Given the description of an element on the screen output the (x, y) to click on. 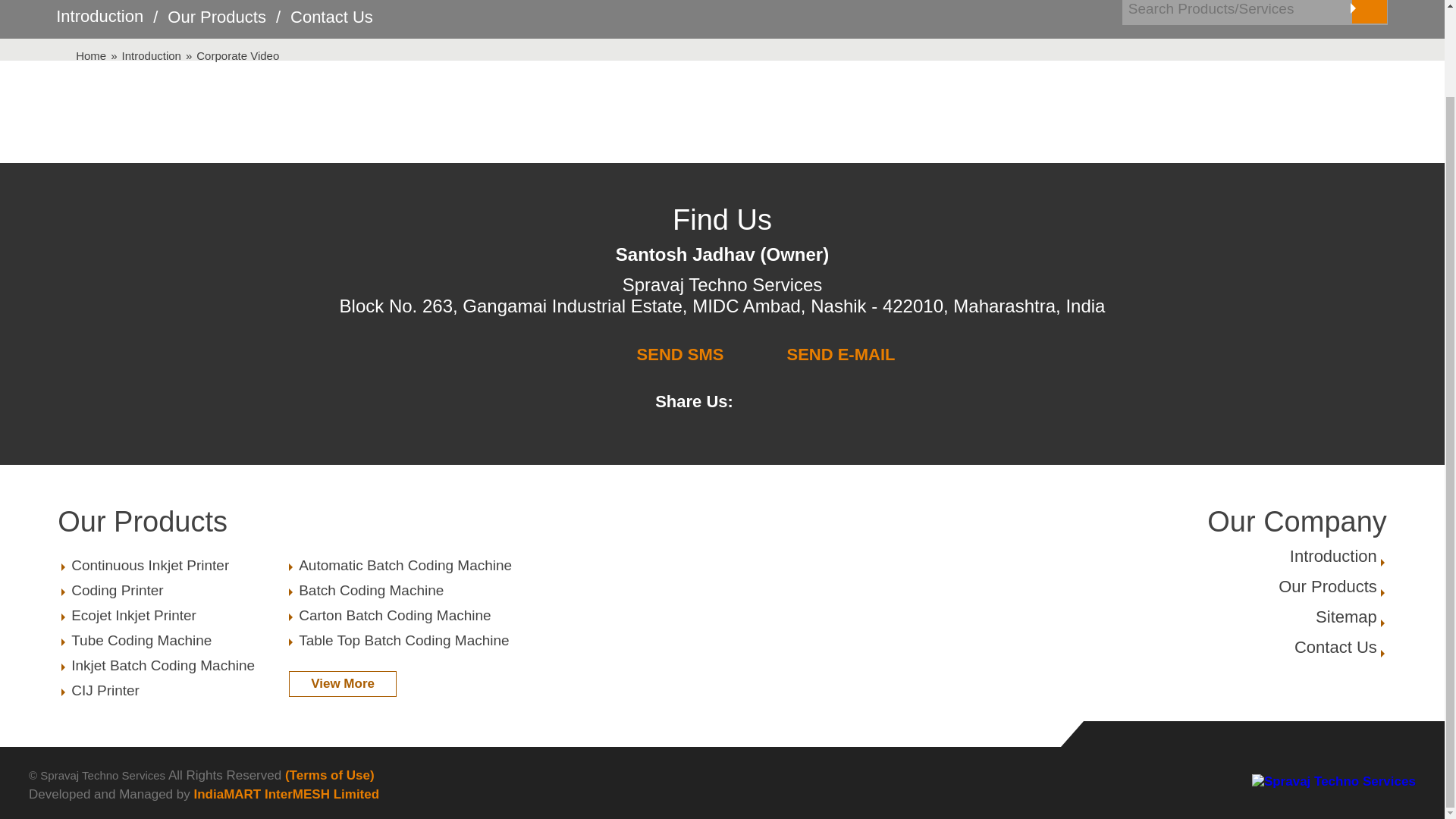
IndiaMART InterMESH Limited (285, 794)
Automatic Batch Coding Machine (1335, 647)
Batch Coding Machine (399, 565)
Continuous Inkjet Printer (399, 590)
Coding Printer (172, 565)
Our Products (172, 590)
Inkjet Batch Coding Machine (216, 25)
